Given the description of an element on the screen output the (x, y) to click on. 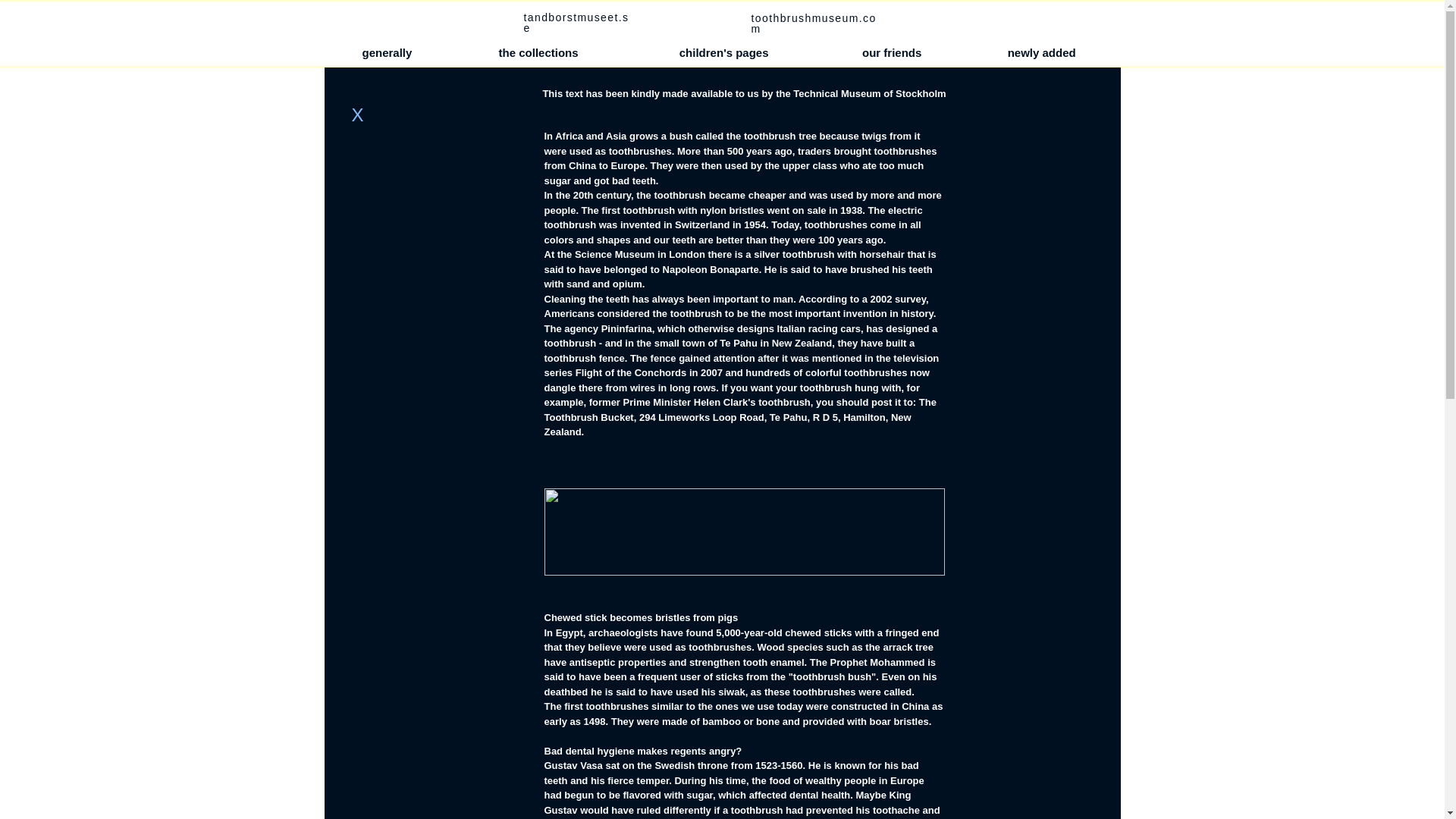
children's pages (724, 52)
the collections (538, 52)
our friends (891, 52)
toothbrushmuseum.com (813, 23)
newly added (1041, 52)
generally (386, 52)
tandborstmuseet.se (575, 22)
